Given the description of an element on the screen output the (x, y) to click on. 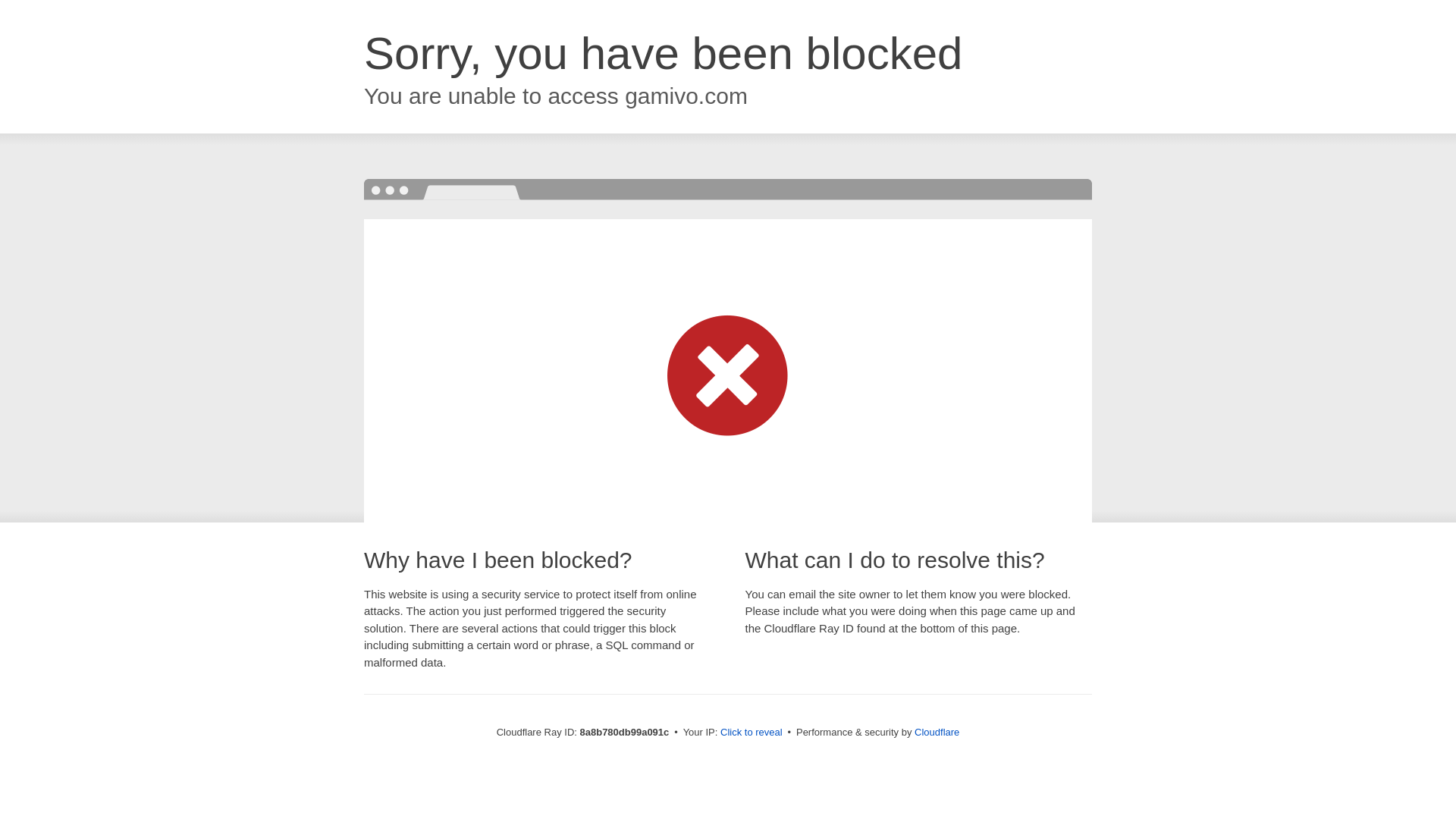
Click to reveal (751, 732)
Cloudflare (936, 731)
